Given the description of an element on the screen output the (x, y) to click on. 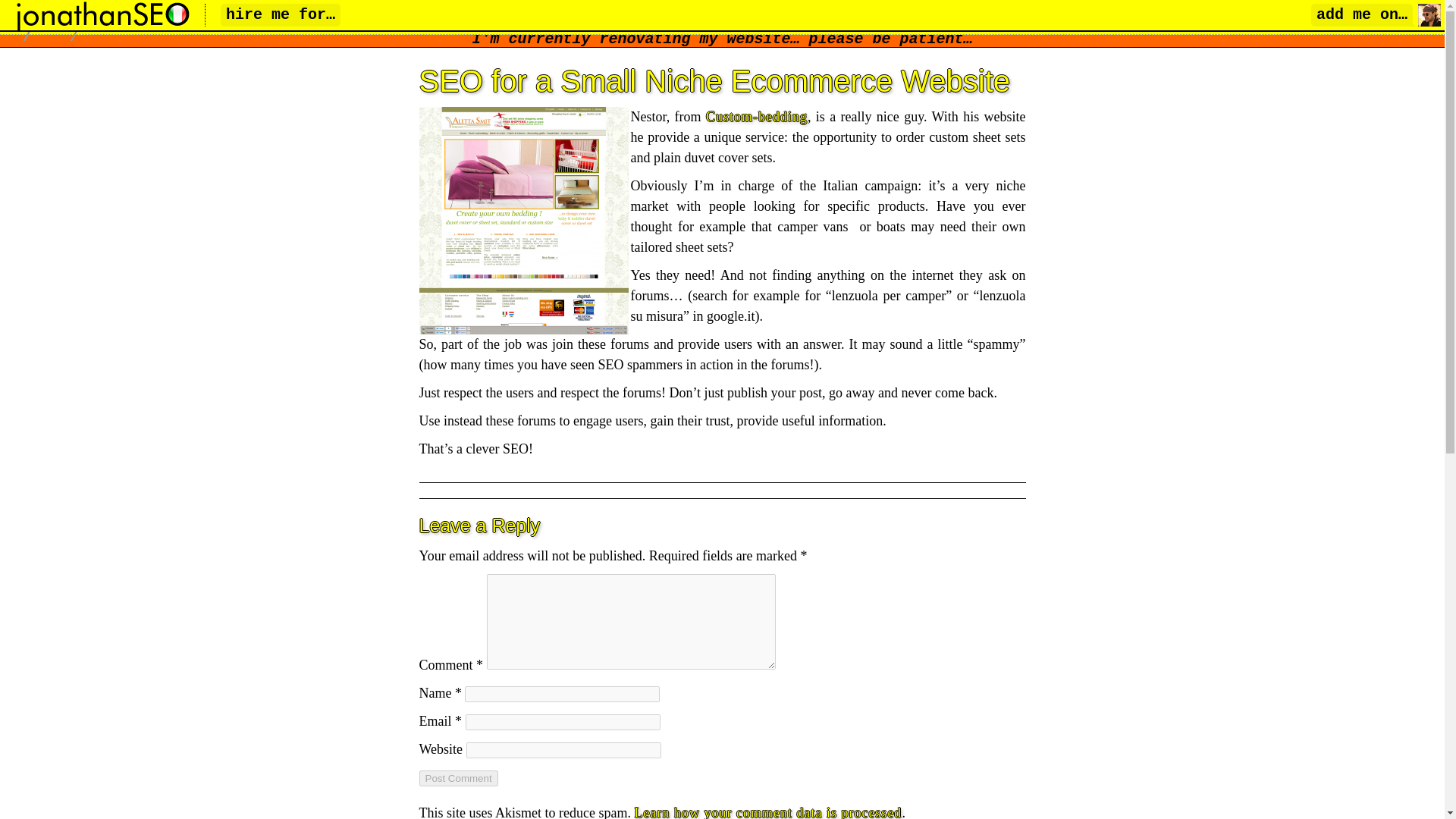
Custom Bedding (523, 220)
Post Comment (458, 778)
Custom-bedding (757, 116)
Post Comment (458, 778)
SEO for Small Business (167, 24)
Learn how your comment data is processed (767, 812)
Home (38, 24)
